Given the description of an element on the screen output the (x, y) to click on. 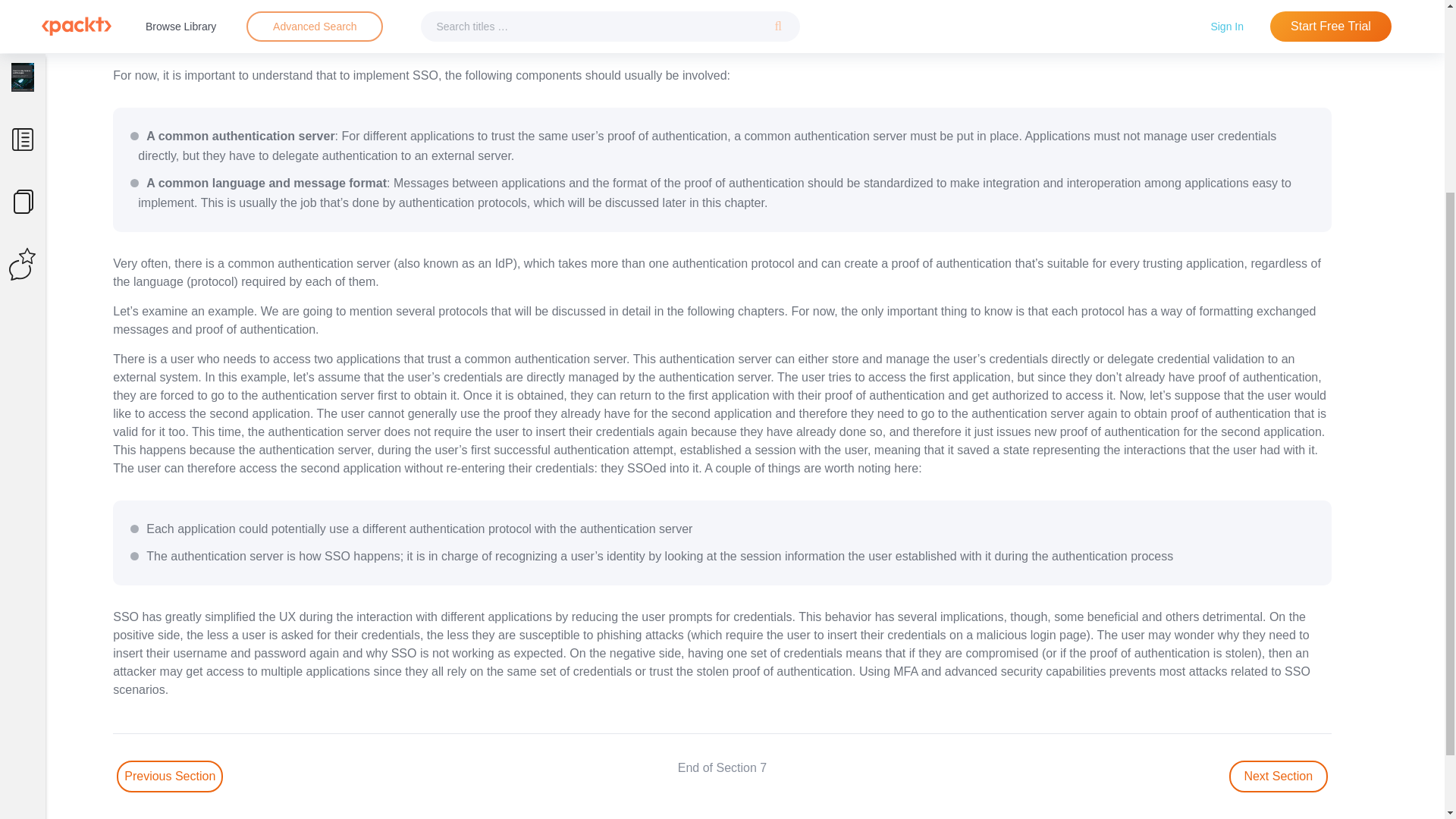
Go to Previous section (169, 776)
Go to next section (1277, 776)
